Given the description of an element on the screen output the (x, y) to click on. 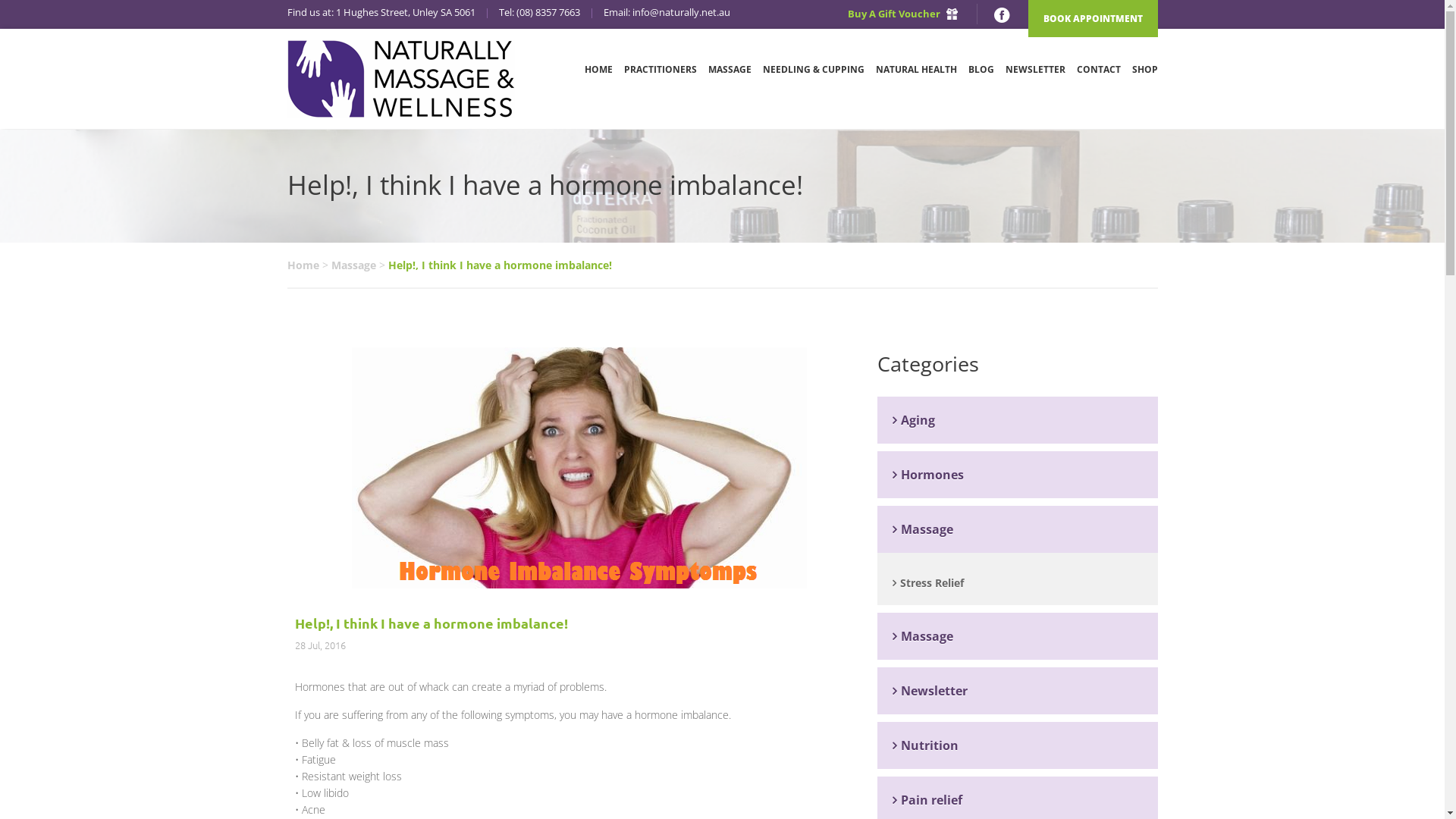
NATURAL HEALTH Element type: text (915, 77)
Home Element type: text (302, 264)
HOME Element type: text (597, 77)
1 Hughes Street, Unley SA 5061 Element type: text (404, 11)
Massage Element type: text (1016, 528)
Massage Element type: text (352, 264)
MASSAGE Element type: text (729, 77)
Newsletter Element type: text (1016, 690)
(08) 8357 7663 Element type: text (547, 11)
Stress Relief Element type: text (1016, 582)
BOOK APPOINTMENT Element type: text (1092, 18)
Hormones Element type: text (1016, 474)
CONTACT Element type: text (1098, 77)
info@naturally.net.au Element type: text (681, 11)
Help!, I think I have a hormone imbalance! Element type: text (430, 622)
Naturally Massage & Wellness Element type: hover (400, 77)
Massage Element type: text (1016, 635)
SHOP Element type: text (1144, 77)
BLOG Element type: text (980, 77)
PRACTITIONERS Element type: text (659, 77)
NEEDLING & CUPPING Element type: text (813, 77)
NEWSLETTER Element type: text (1035, 77)
Aging Element type: text (1016, 419)
Nutrition Element type: text (1016, 744)
Buy A Gift Voucher Element type: text (902, 13)
